Given the description of an element on the screen output the (x, y) to click on. 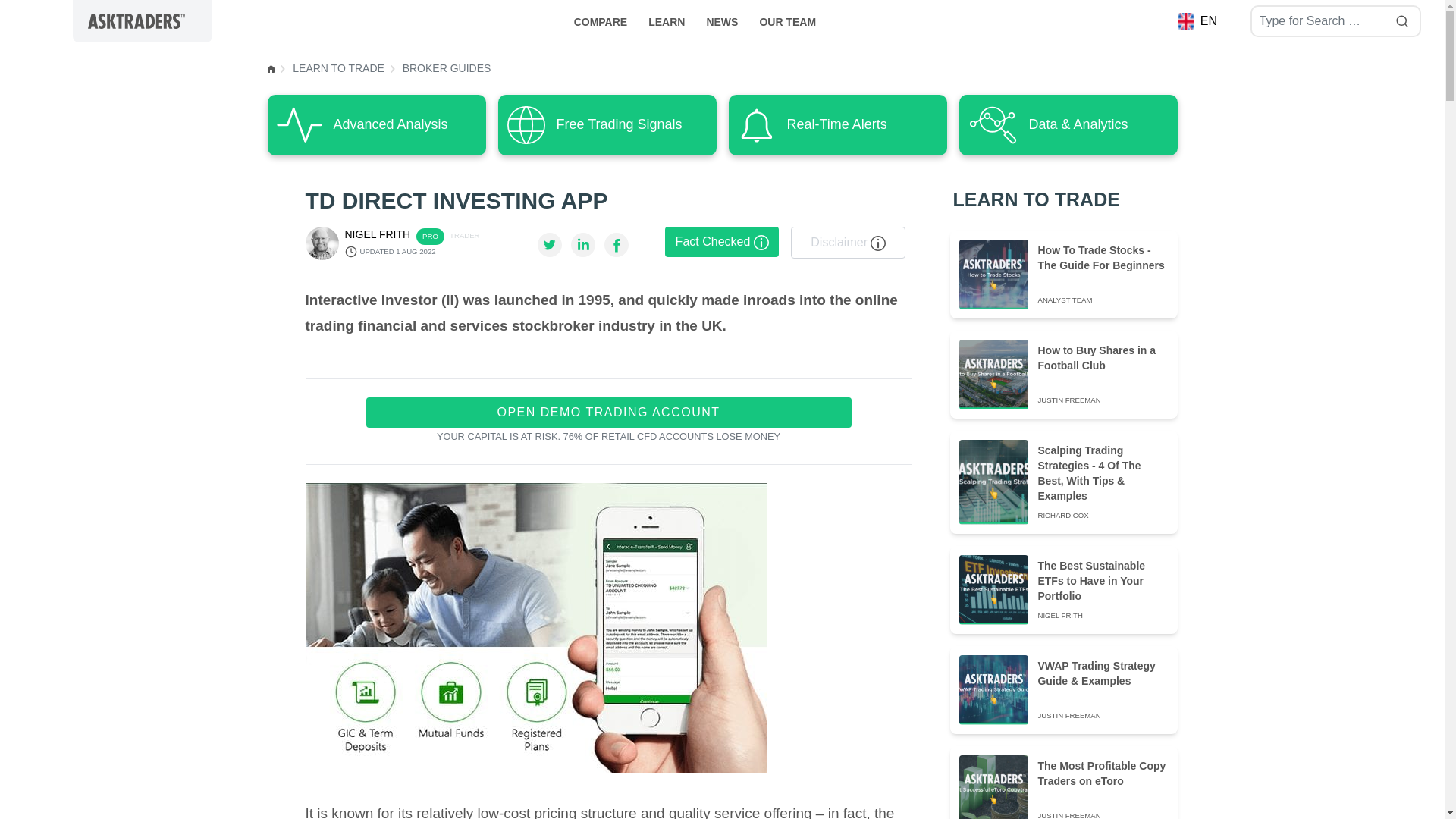
Advanced Analysis (375, 125)
LEARN (666, 20)
LEARN TO TRADE (338, 68)
NEWS (721, 20)
EN (1198, 21)
OUR TEAM (787, 20)
Free Trading Signals (606, 125)
Real-Time Alerts (837, 125)
BROKER GUIDES (447, 68)
COMPARE (601, 20)
